Given the description of an element on the screen output the (x, y) to click on. 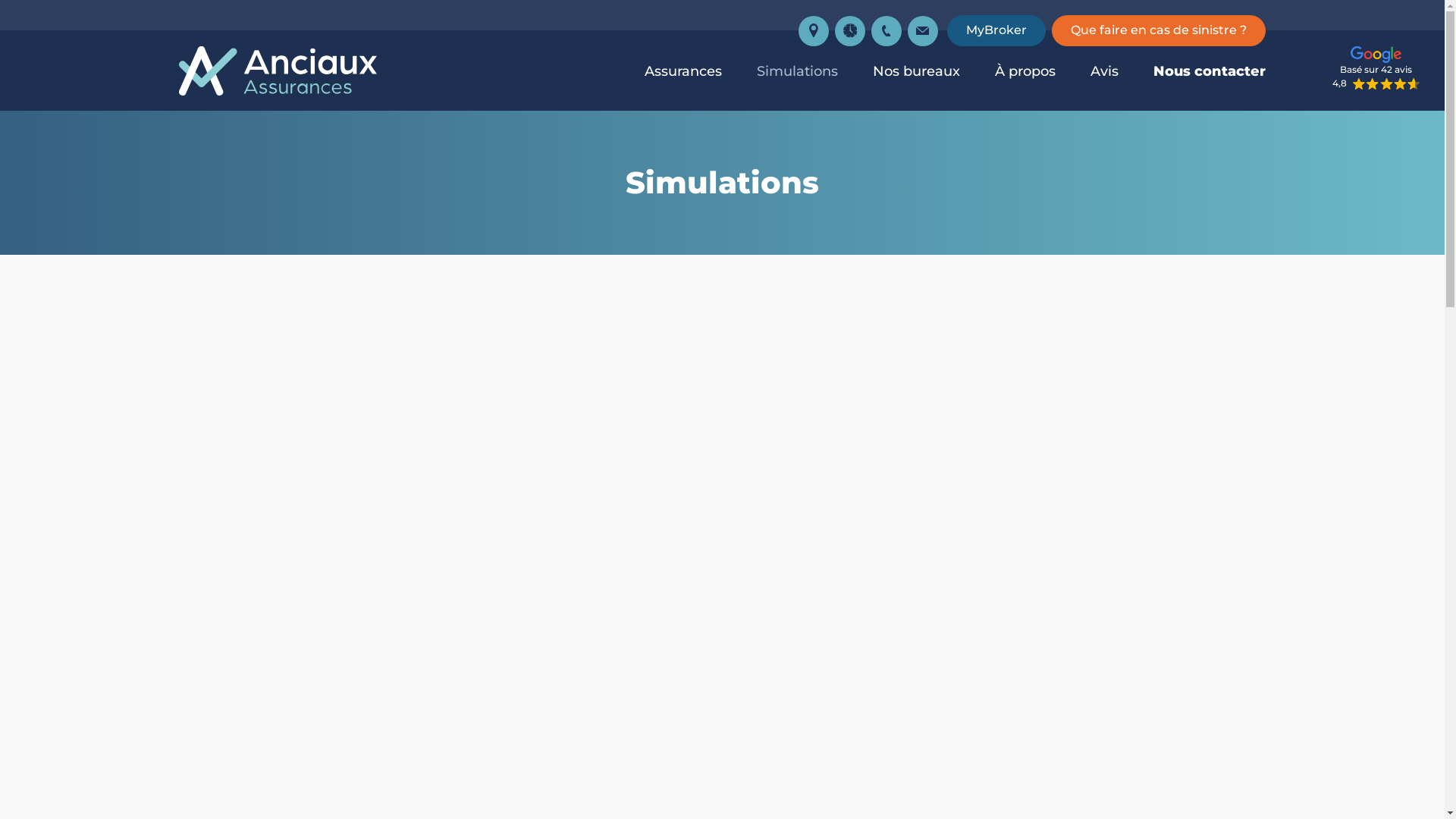
Nous contacter Element type: text (1209, 70)
Nos bureaux Element type: text (916, 70)
Avis Element type: text (1104, 70)
Assurances Element type: text (682, 70)
Simulations Element type: text (796, 70)
Que faire en cas de sinistre ? Element type: text (1158, 30)
MyBroker Element type: text (996, 30)
